Given the description of an element on the screen output the (x, y) to click on. 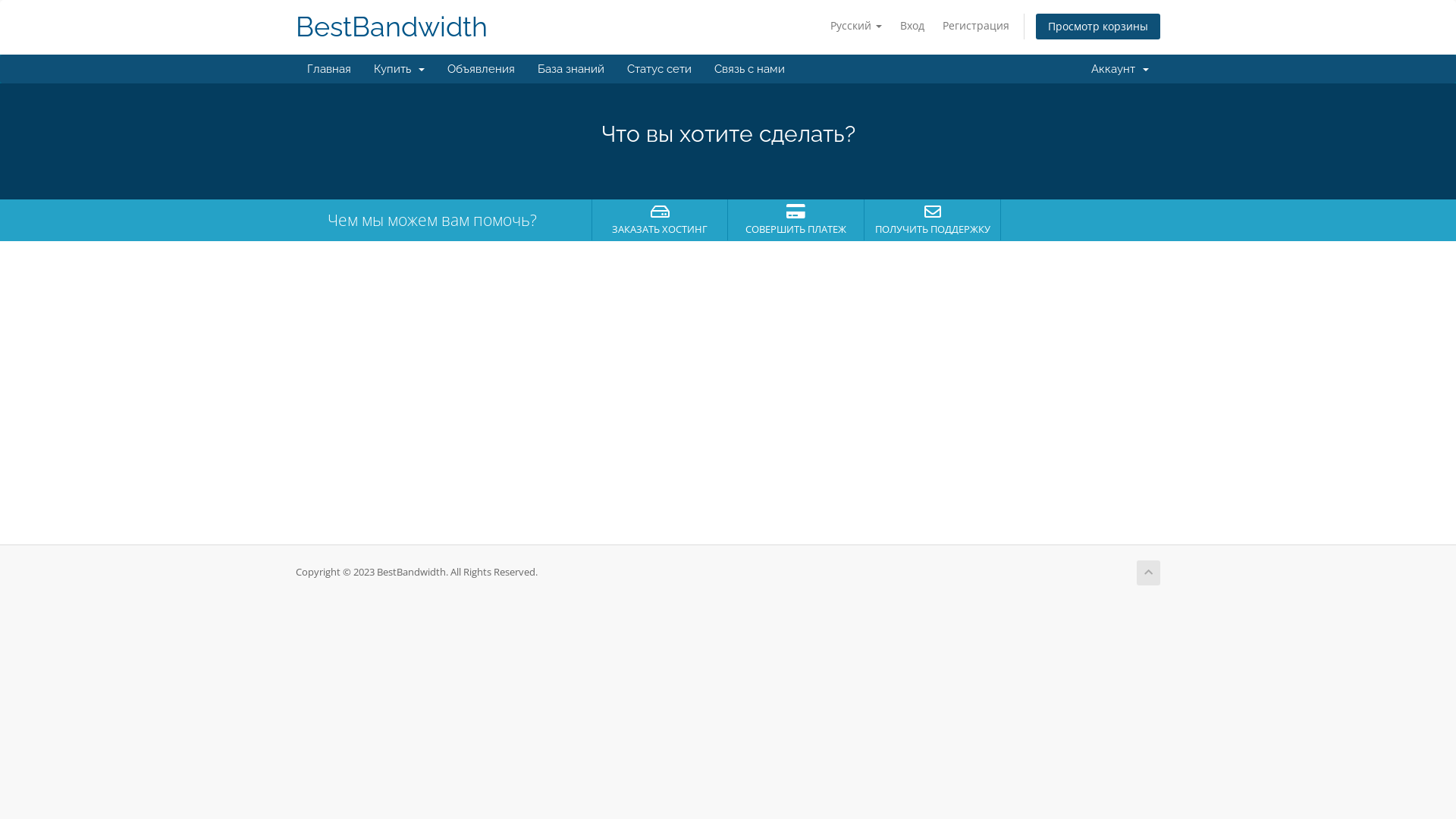
BestBandwidth Element type: text (391, 26)
